Given the description of an element on the screen output the (x, y) to click on. 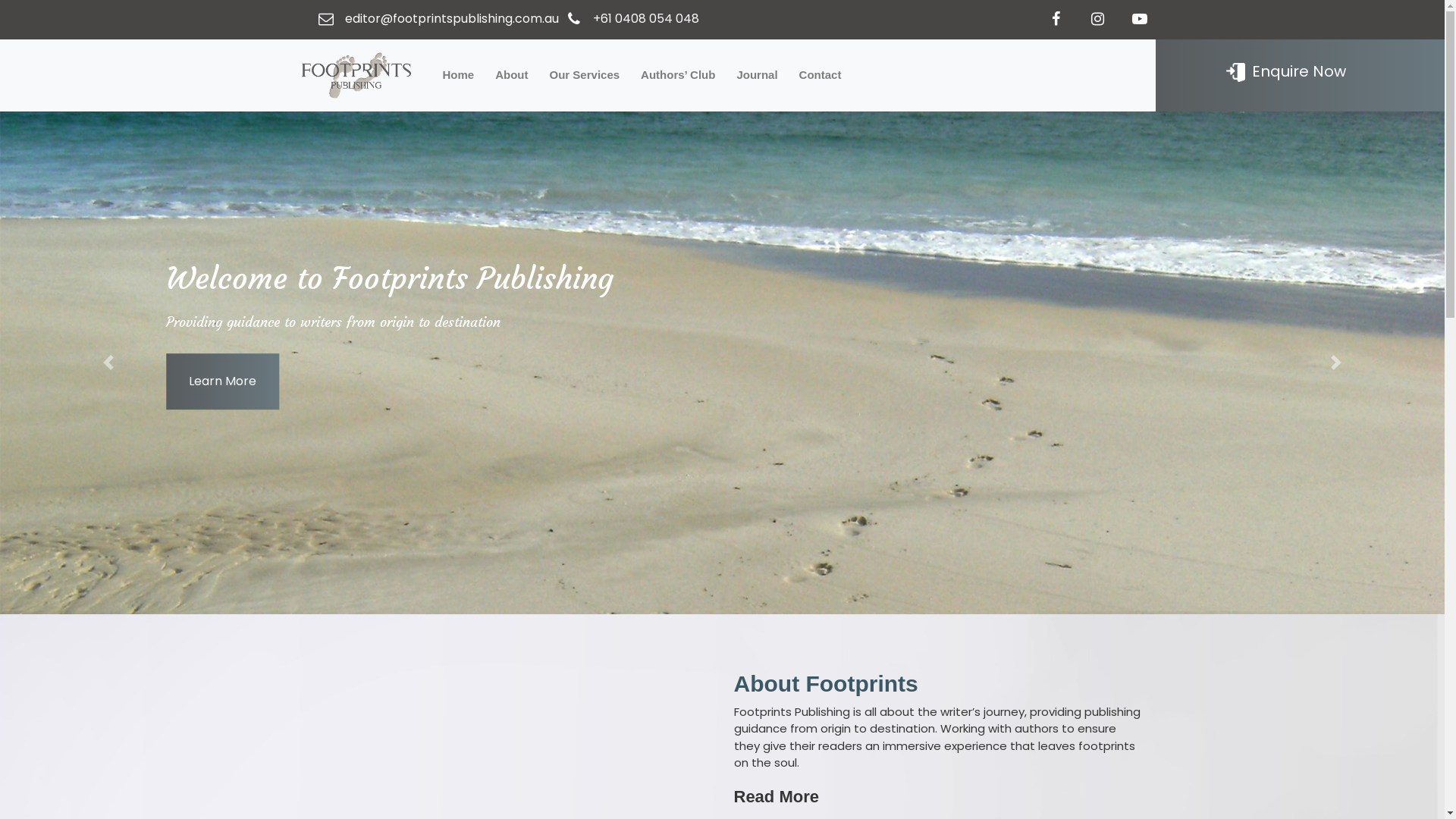
Our Services Element type: text (584, 75)
Learn More Element type: text (222, 382)
+61 0408 054 048 Element type: text (646, 18)
Read More Element type: text (776, 796)
Home Element type: text (458, 75)
Previous Element type: text (108, 362)
About Element type: text (511, 75)
editor@footprintspublishing.com.au Element type: text (451, 18)
Next Element type: text (1335, 362)
Contact Element type: text (820, 75)
Enquire Now Element type: text (1286, 70)
Journal Element type: text (756, 75)
